Given the description of an element on the screen output the (x, y) to click on. 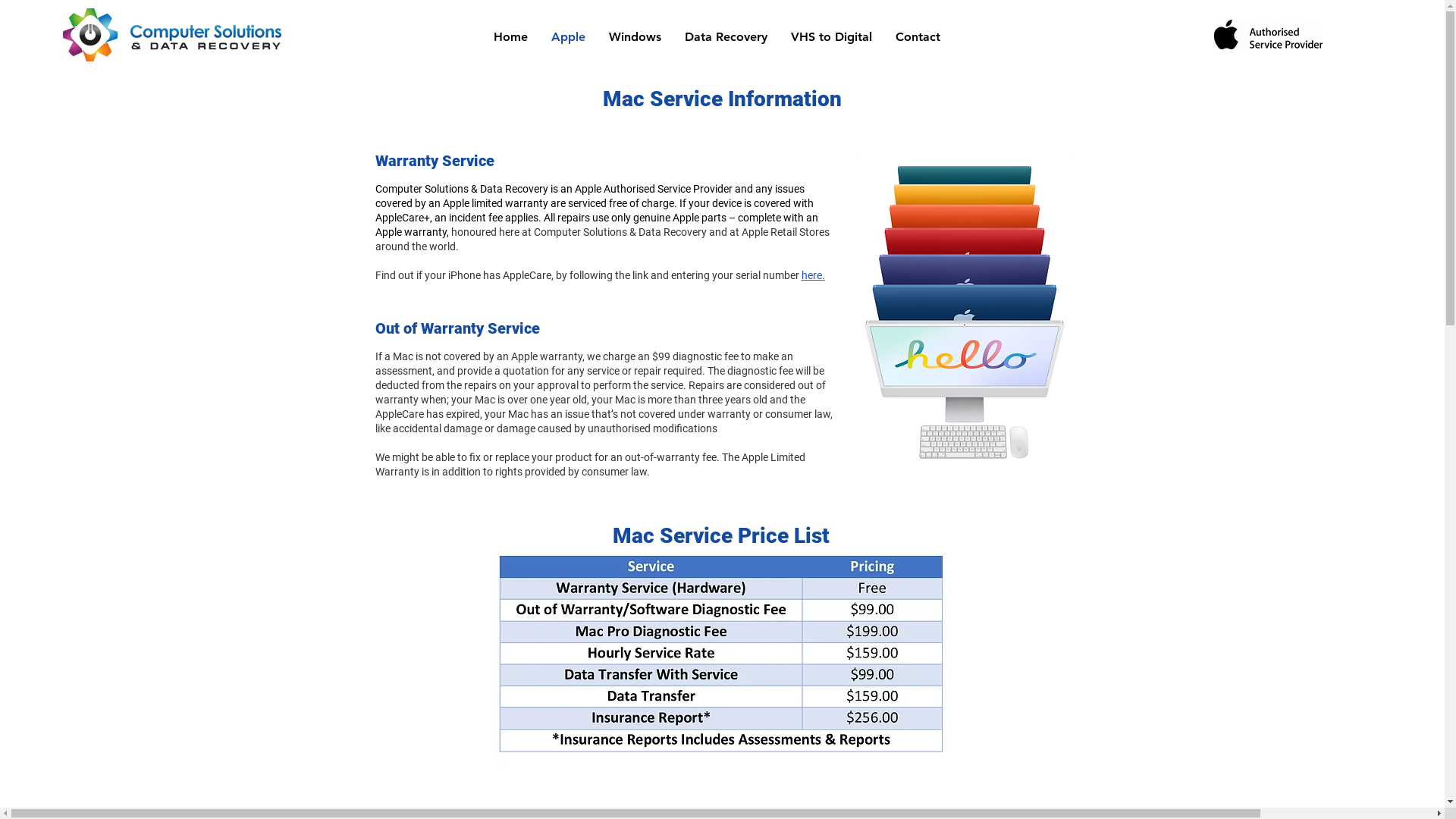
Apple Element type: text (567, 36)
Data Recovery Element type: text (725, 36)
Windows Element type: text (634, 36)
Home Element type: text (510, 36)
Service.jpg Element type: hover (721, 658)
VHS to Digital Element type: text (831, 36)
here Element type: text (810, 275)
Contact Element type: text (917, 36)
